Given the description of an element on the screen output the (x, y) to click on. 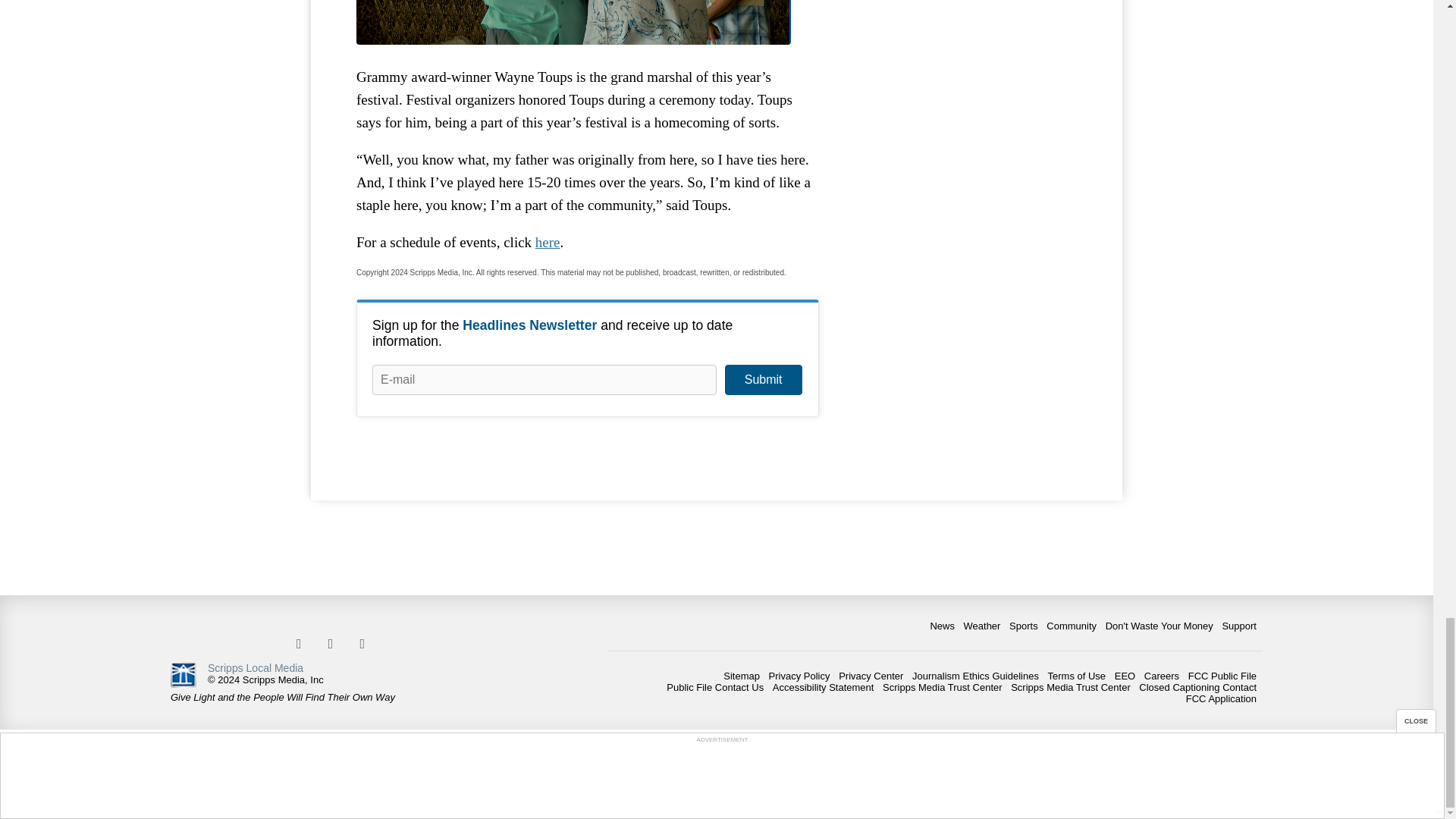
Submit (763, 379)
